Given the description of an element on the screen output the (x, y) to click on. 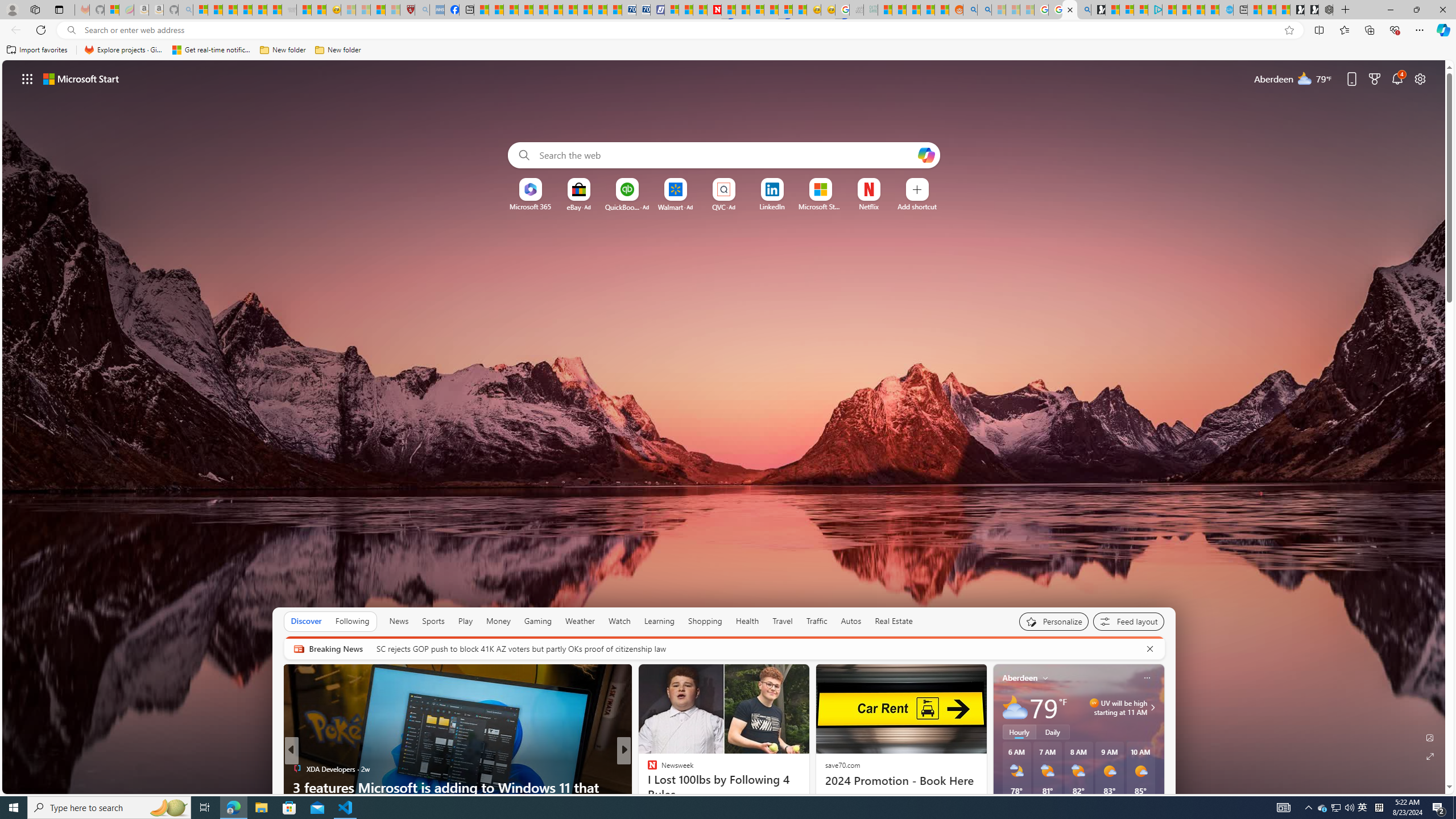
Enter your search term (726, 155)
Gaming (537, 621)
Utah sues federal government - Search (983, 9)
